Given the description of an element on the screen output the (x, y) to click on. 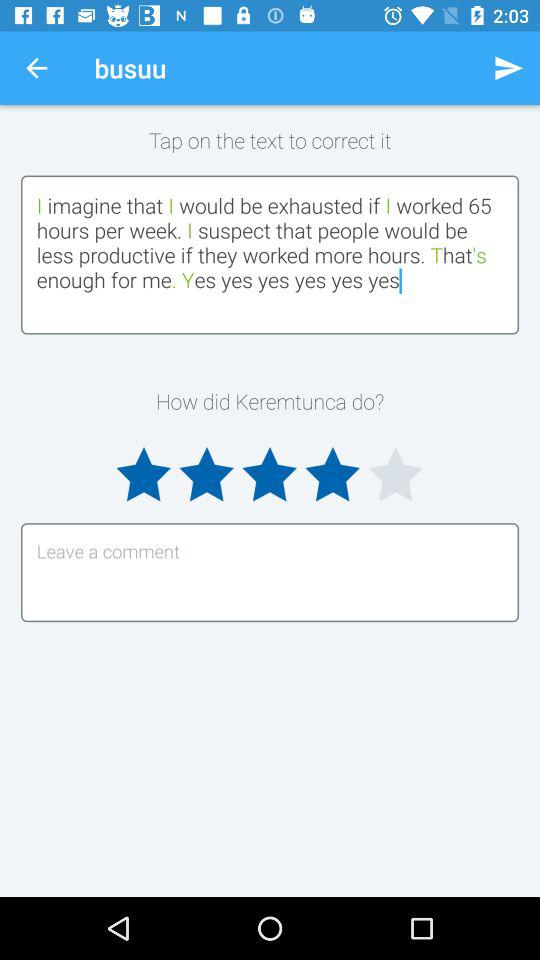
open icon next to busuu item (36, 68)
